Given the description of an element on the screen output the (x, y) to click on. 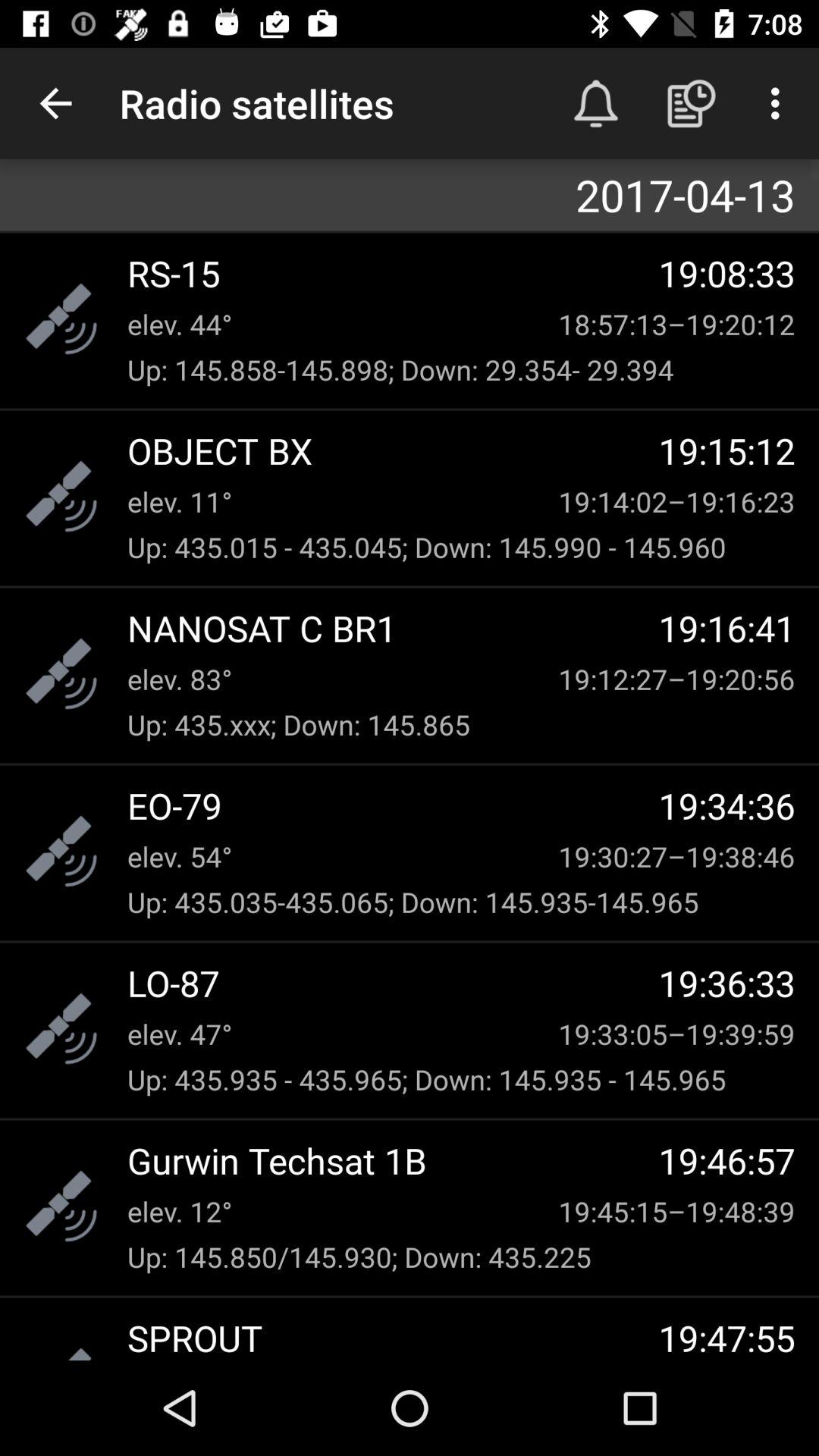
turn off object bx icon (392, 450)
